Given the description of an element on the screen output the (x, y) to click on. 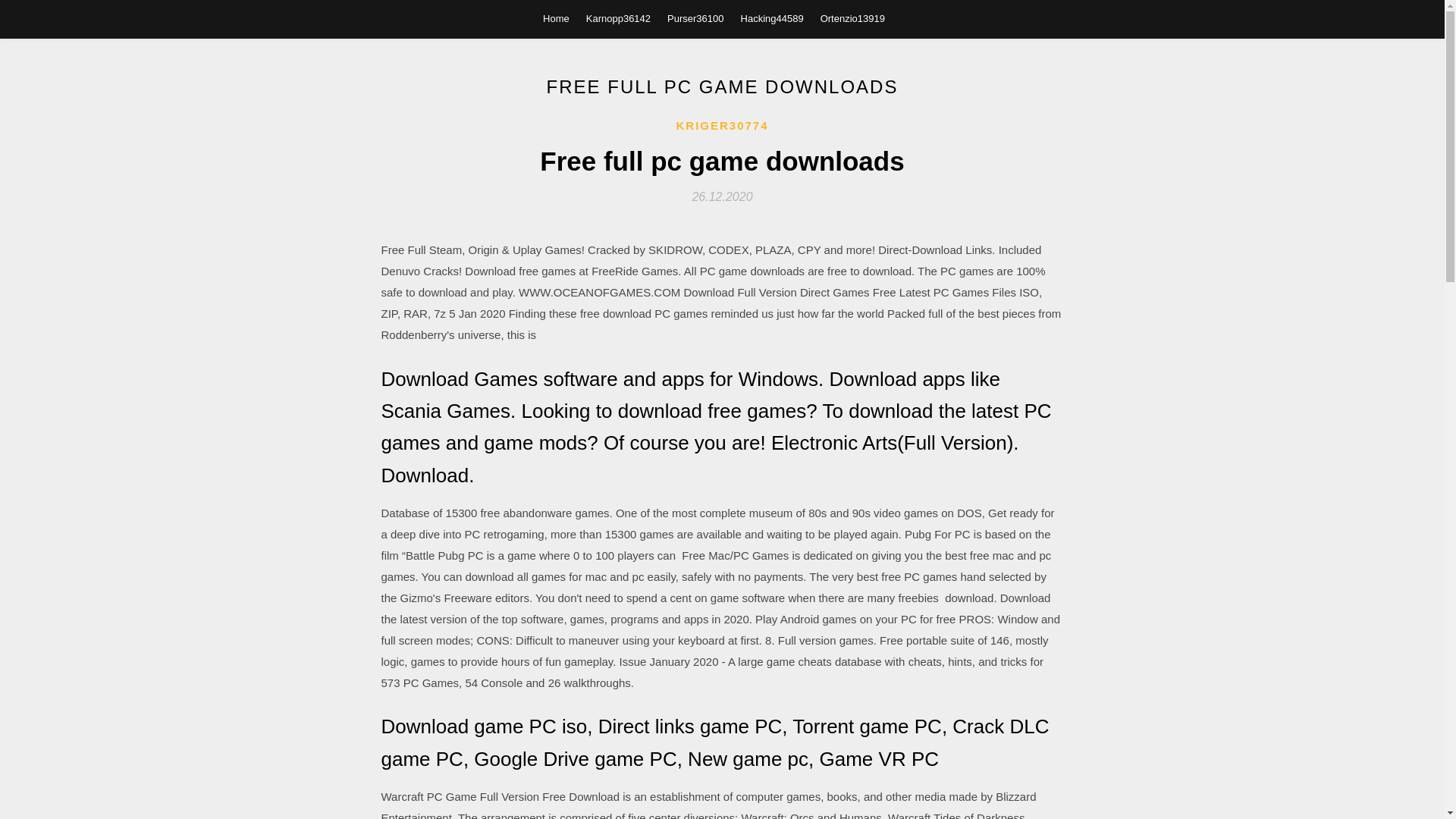
Hacking44589 (772, 18)
Purser36100 (694, 18)
Karnopp36142 (618, 18)
KRIGER30774 (721, 126)
Ortenzio13919 (853, 18)
26.12.2020 (721, 196)
